Given the description of an element on the screen output the (x, y) to click on. 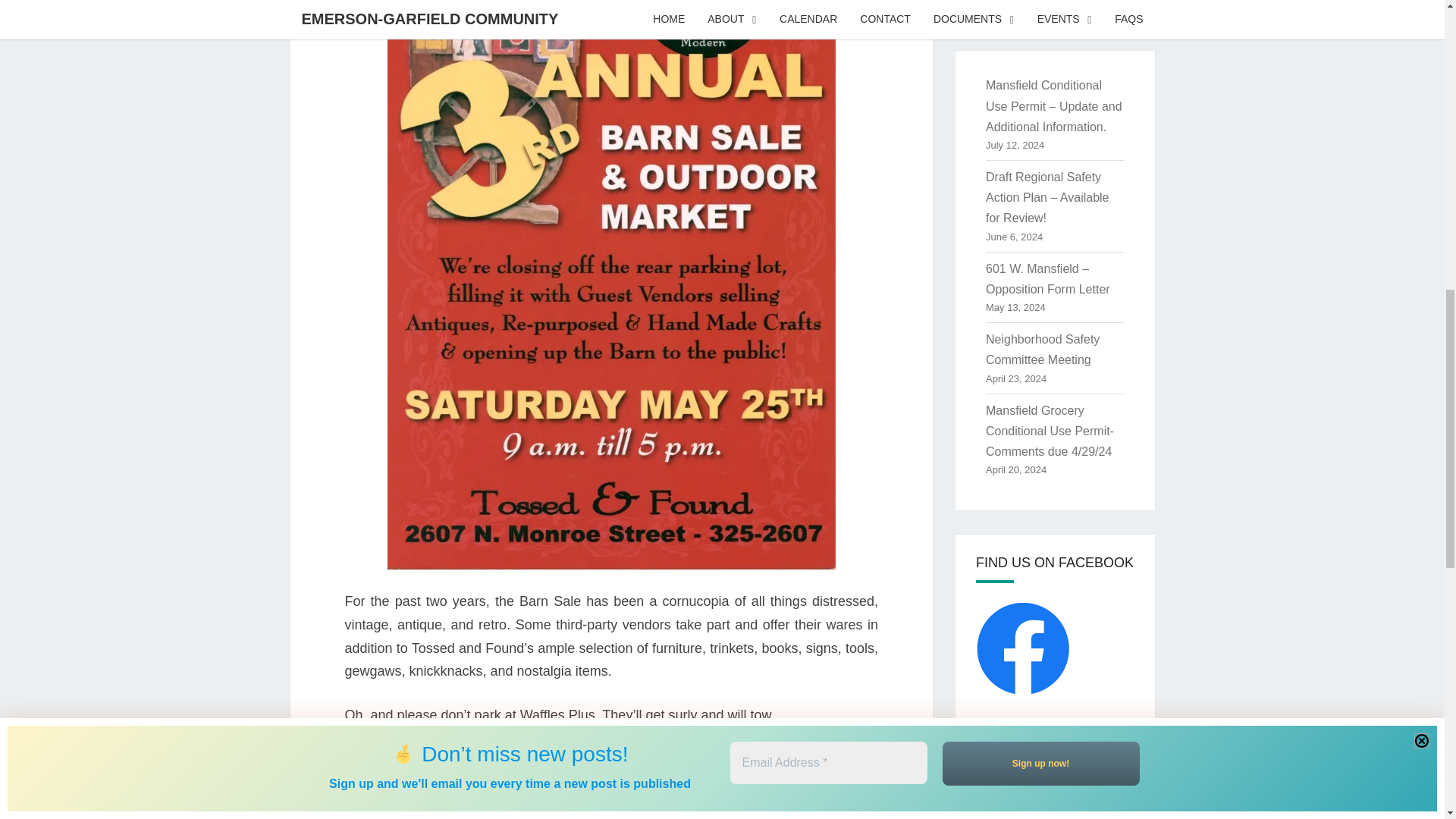
Click to email a link to a friend (447, 790)
More (530, 790)
Click to share on Tumblr (386, 790)
Click to print (477, 790)
Click to share on Facebook (355, 790)
Click to share on Twitter (416, 790)
